Given the description of an element on the screen output the (x, y) to click on. 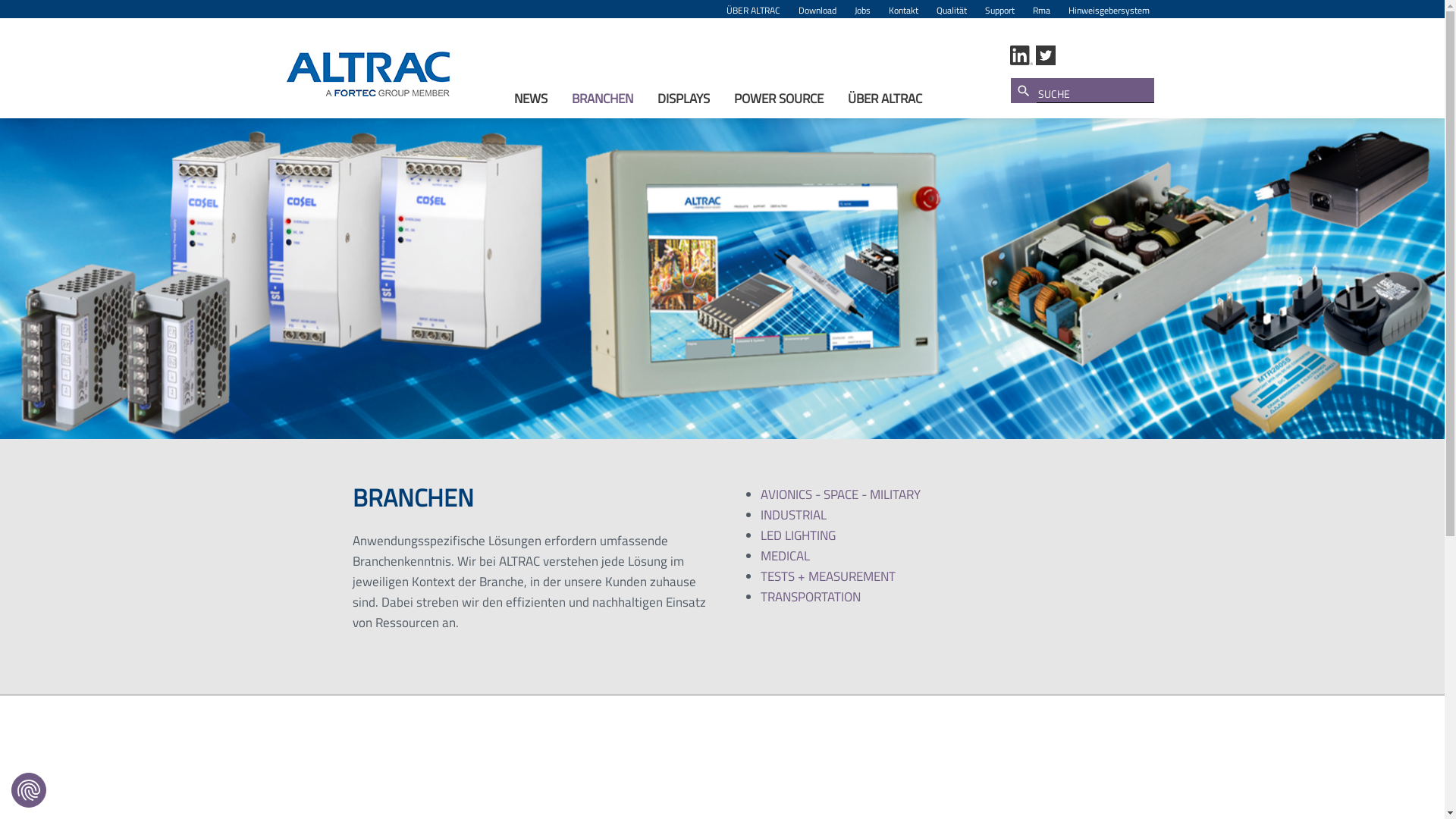
Download Element type: text (816, 9)
Kontakt Element type: text (903, 9)
TESTS + MEASUREMENT Element type: text (826, 576)
Suche Element type: text (1022, 90)
LED LIGHTING Element type: text (796, 535)
MEDICAL Element type: text (784, 555)
Rma Element type: text (1041, 9)
NEWS Element type: text (530, 96)
AVIONICS - SPACE - MILITARY Element type: text (839, 494)
Hinweisgebersystem Element type: text (1107, 9)
Privacy settings Element type: hover (28, 789)
Zur Startseite Element type: hover (367, 72)
DISPLAYS Element type: text (683, 96)
BRANCHEN Element type: text (602, 96)
INDUSTRIAL Element type: text (792, 514)
TRANSPORTATION Element type: text (809, 596)
POWER SOURCE Element type: text (778, 96)
Support Element type: text (998, 9)
Jobs Element type: text (861, 9)
Zur Startseite Element type: hover (371, 72)
